Given the description of an element on the screen output the (x, y) to click on. 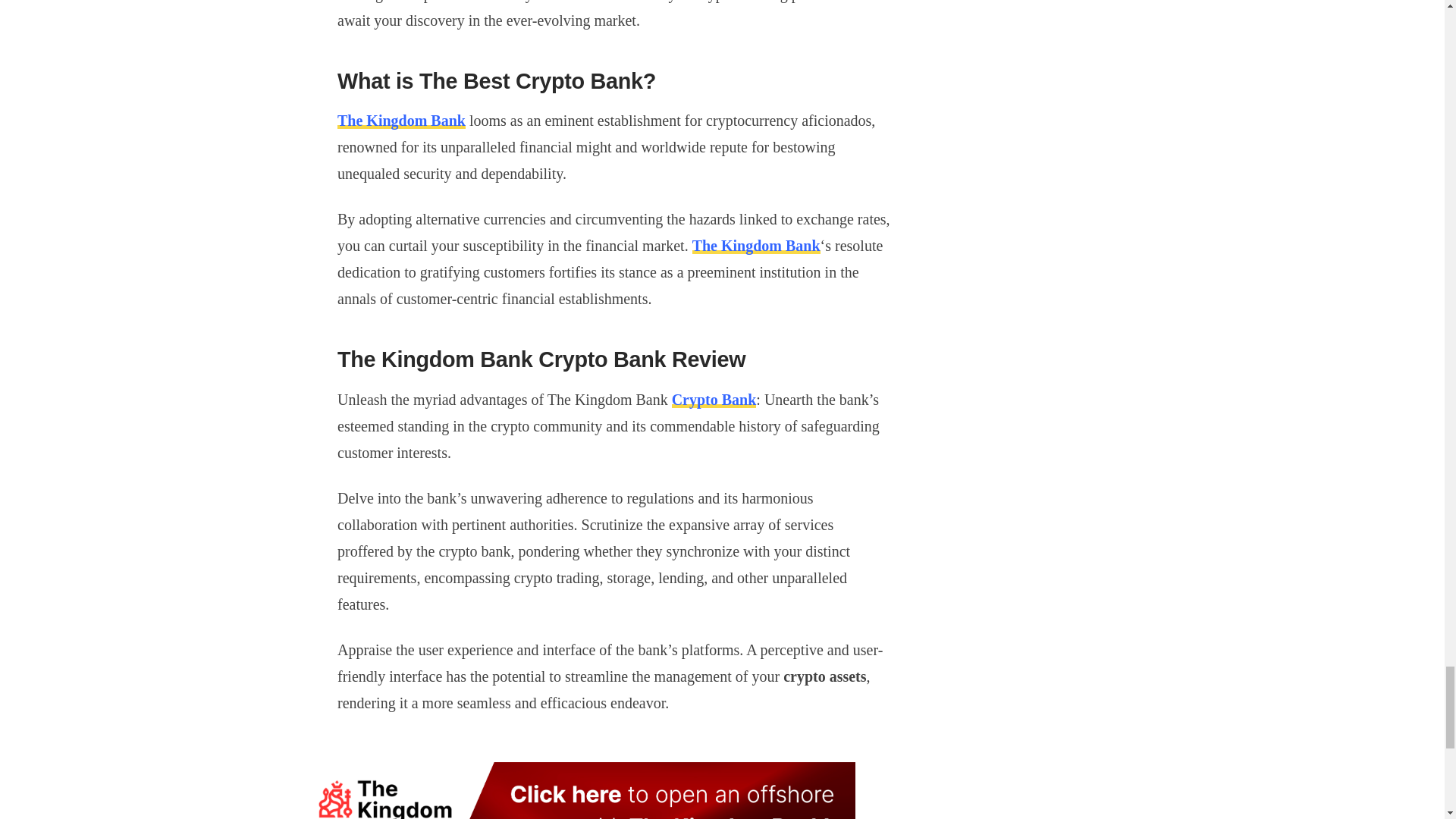
Crypto Bank (714, 399)
The Kingdom Bank (757, 245)
The Kingdom Bank (401, 120)
